Given the description of an element on the screen output the (x, y) to click on. 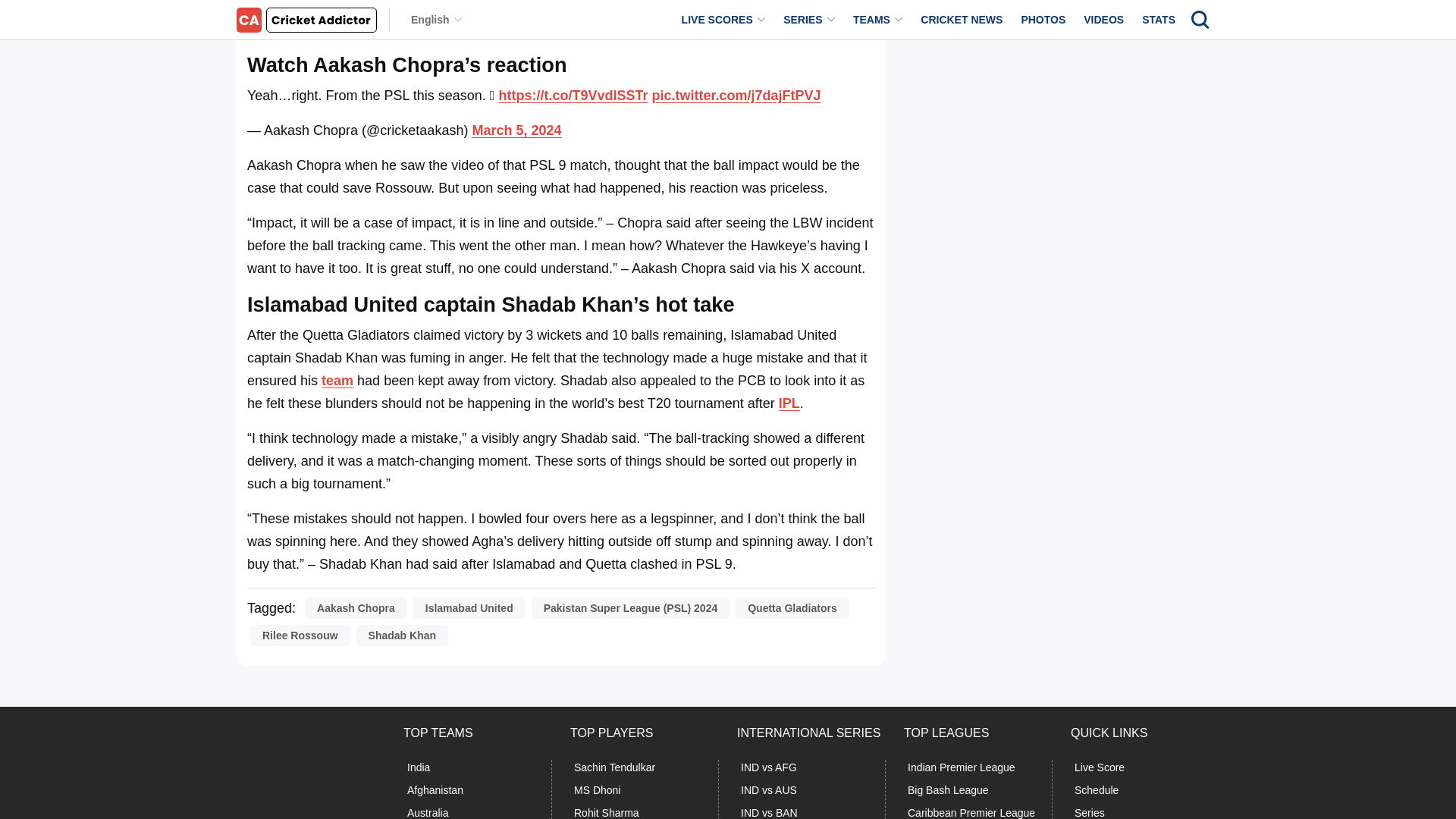
IPL (788, 403)
